Given the description of an element on the screen output the (x, y) to click on. 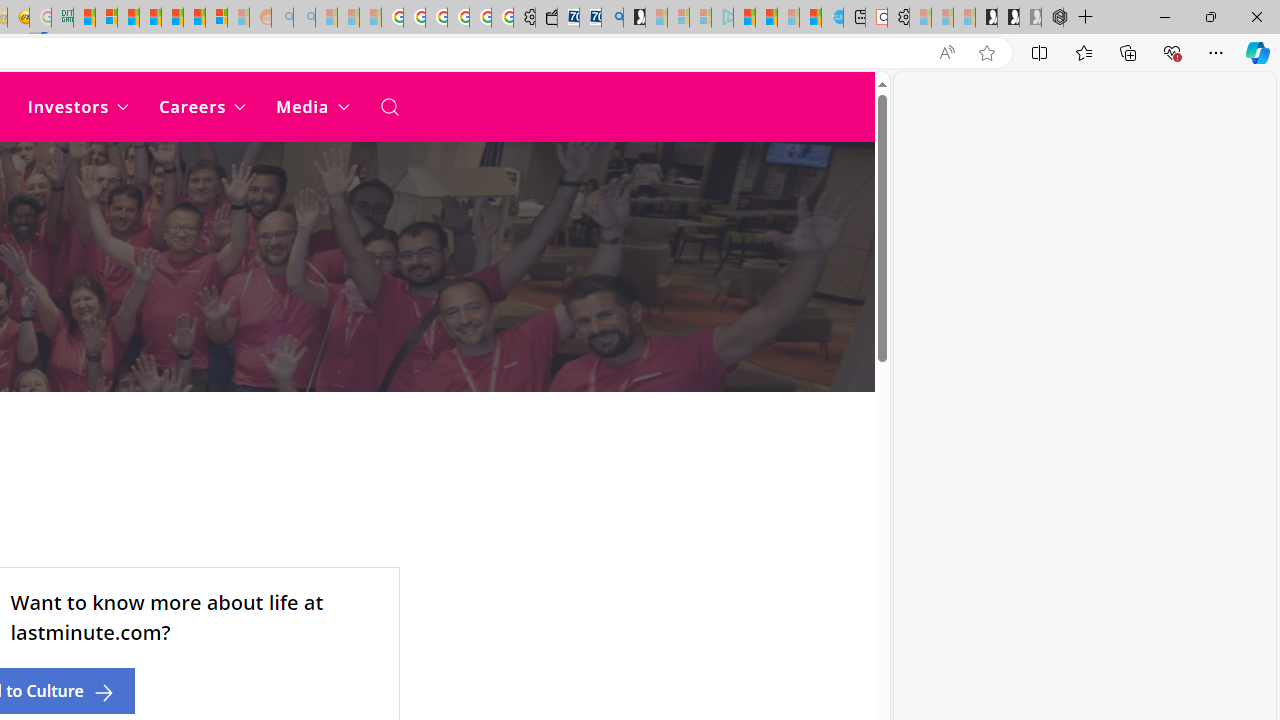
Kinda Frugal - MSN (194, 17)
